Given the description of an element on the screen output the (x, y) to click on. 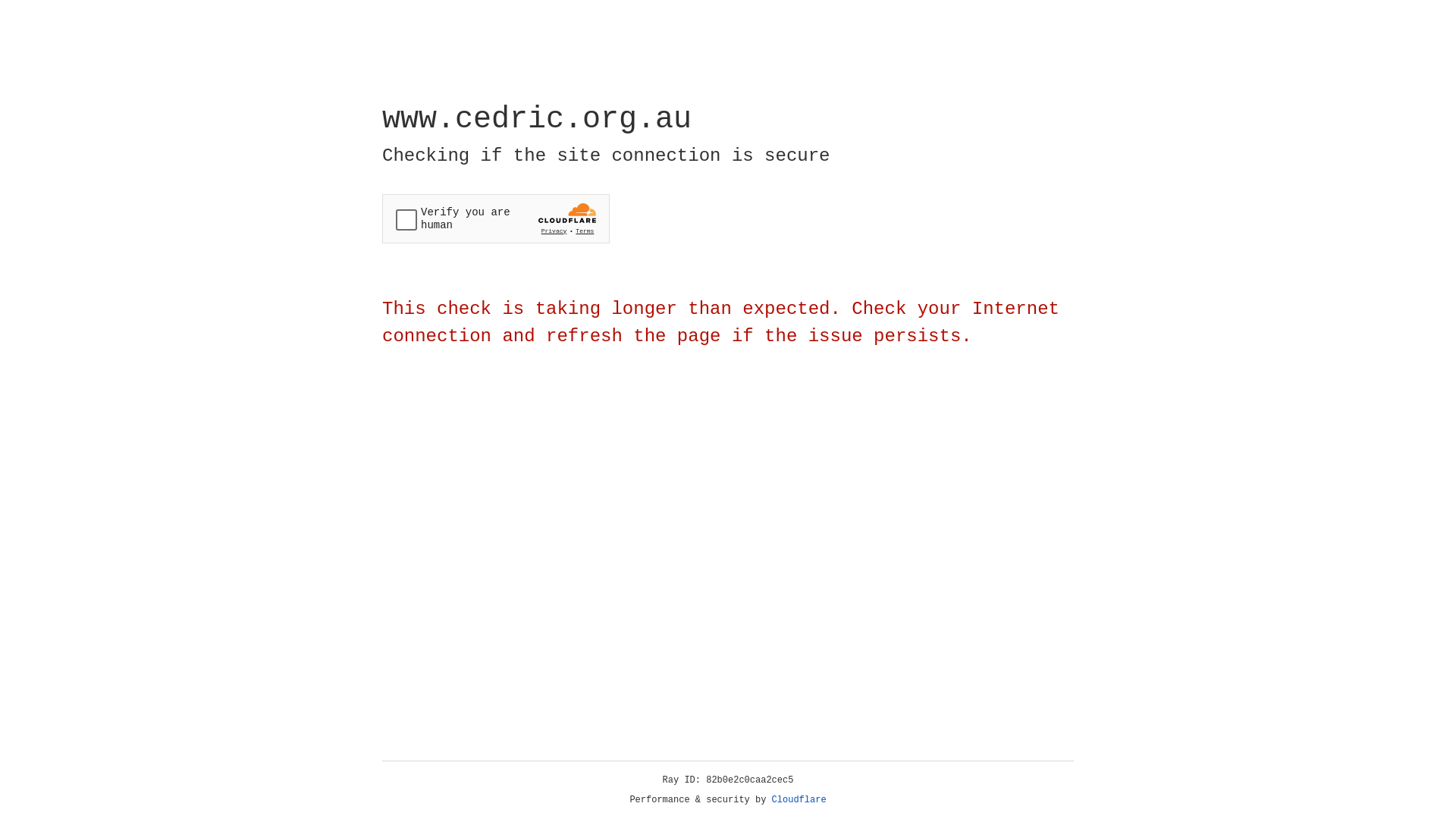
Cloudflare Element type: text (798, 799)
Widget containing a Cloudflare security challenge Element type: hover (495, 218)
